Given the description of an element on the screen output the (x, y) to click on. 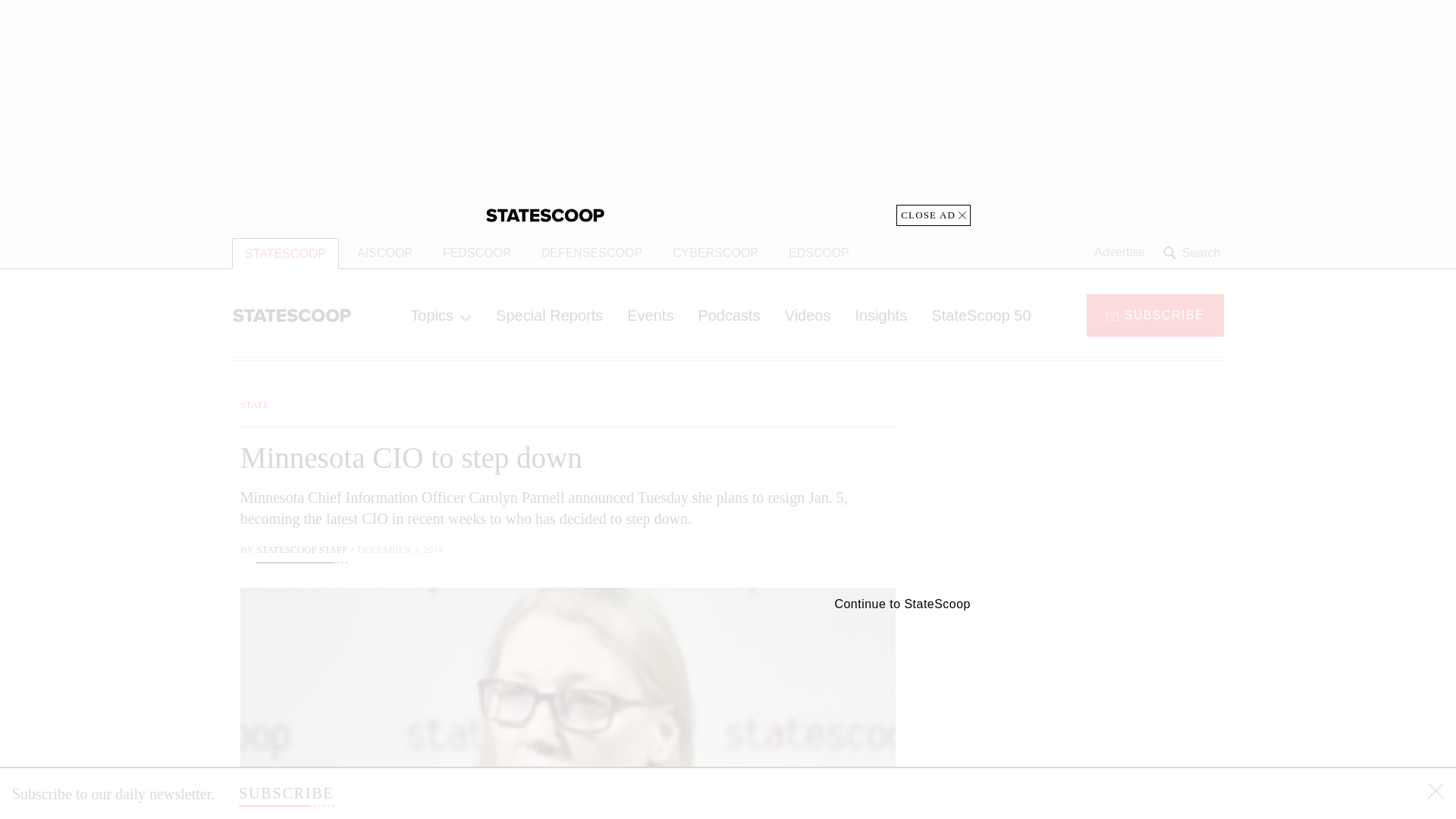
FEDSCOOP (476, 253)
3rd party ad content (1101, 492)
Topics (440, 315)
StateScoop 50 (980, 315)
SUBSCRIBE (285, 793)
3rd party ad content (1101, 705)
Podcasts (728, 315)
Advertise (1119, 252)
AISCOOP (385, 253)
Events (649, 315)
CYBERSCOOP (715, 253)
Search (1193, 252)
